Given the description of an element on the screen output the (x, y) to click on. 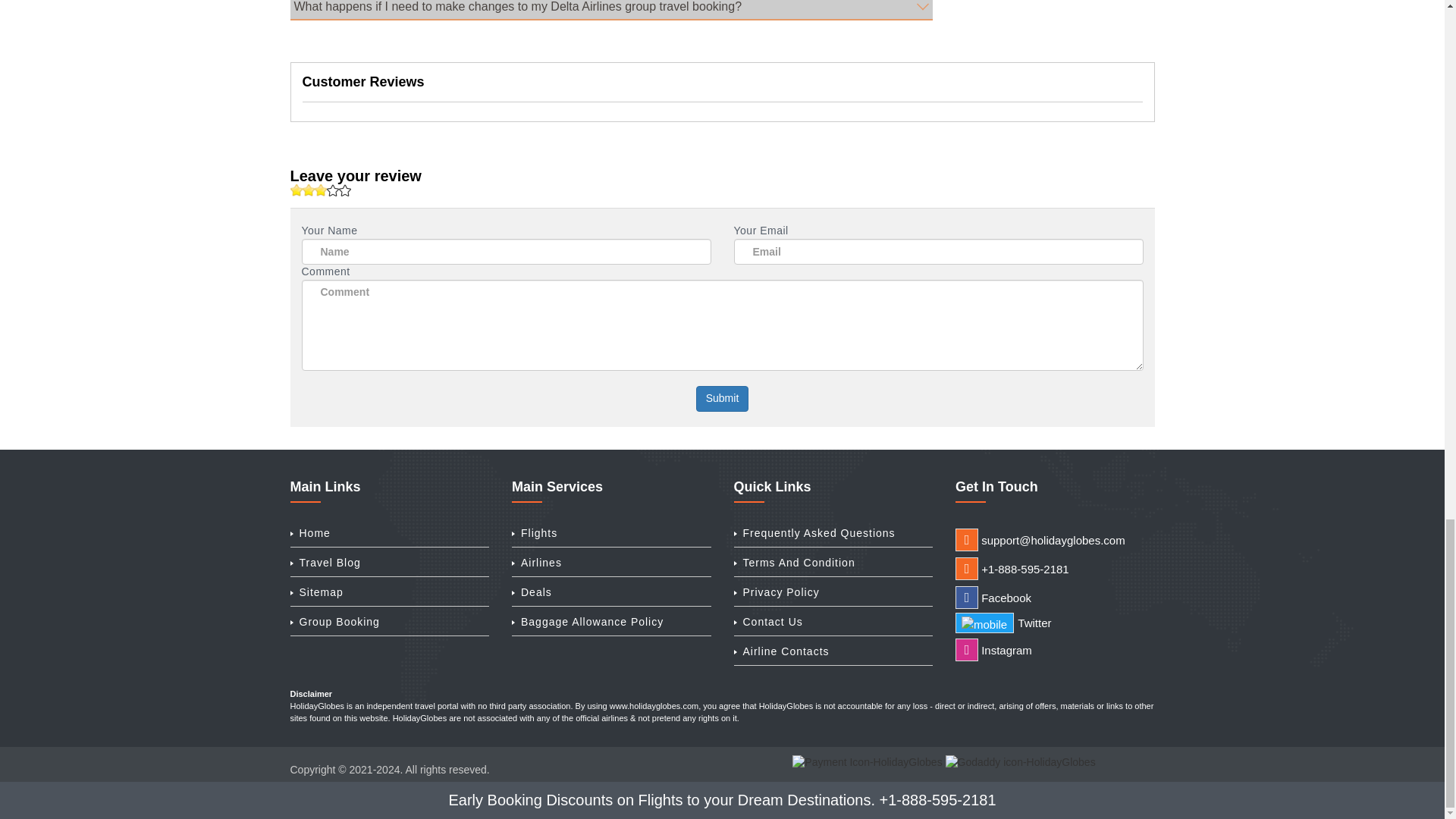
Flights (539, 533)
Frequently Asked Questions (818, 533)
Airline Contacts (785, 652)
Baggage Allowance Policy (592, 622)
Home (314, 533)
Group Booking (338, 622)
Airlines (541, 563)
Submit (722, 398)
Deals (536, 592)
Privacy Policy (780, 592)
Travel Blog (328, 563)
Terms And Condition (799, 563)
Contact Us (772, 622)
Submit (722, 398)
Privacy Policy (780, 592)
